Given the description of an element on the screen output the (x, y) to click on. 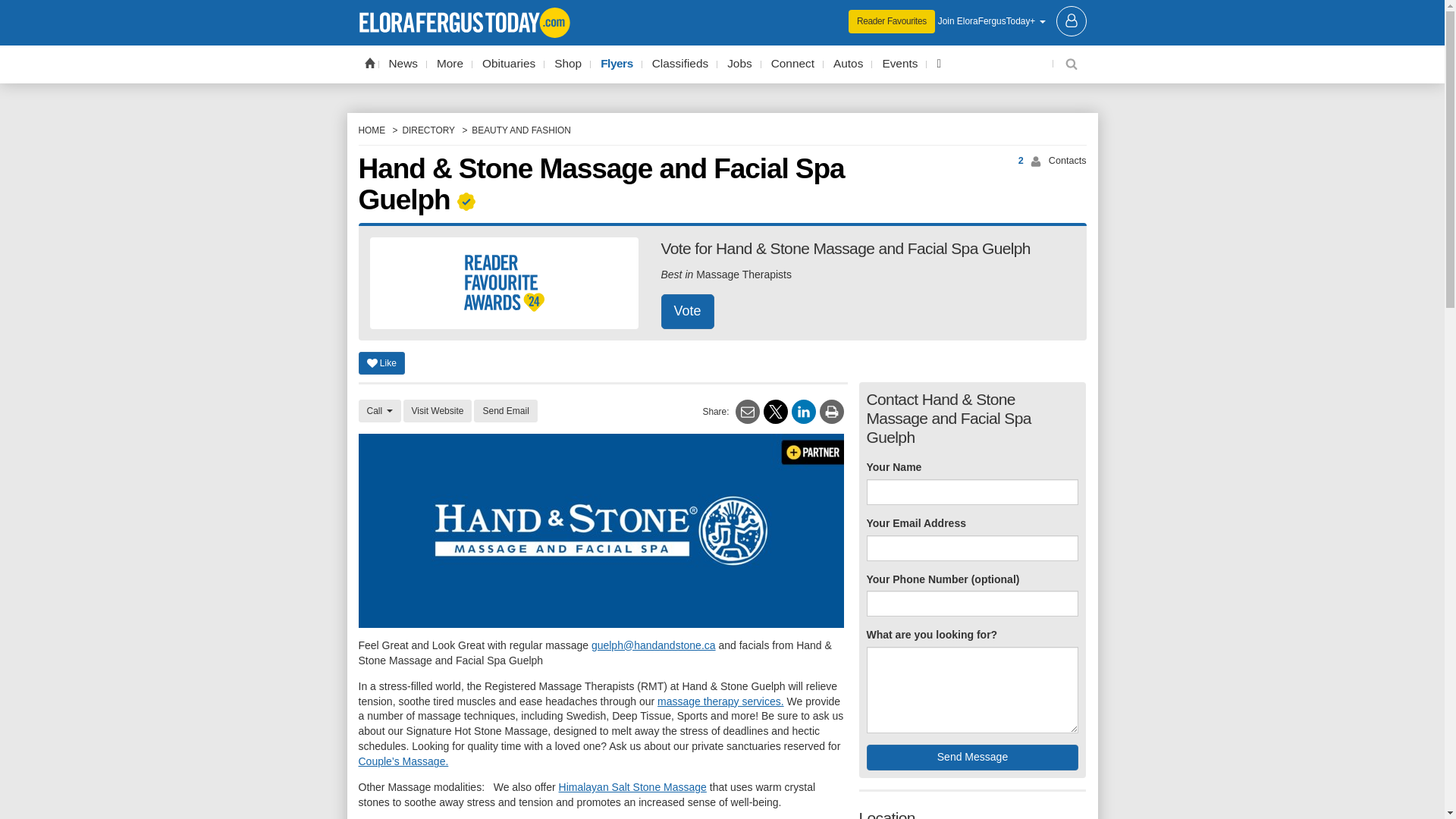
2 Contacts (1003, 160)
Home (368, 62)
Reader Favourites (891, 21)
Like this organization (381, 363)
